Given the description of an element on the screen output the (x, y) to click on. 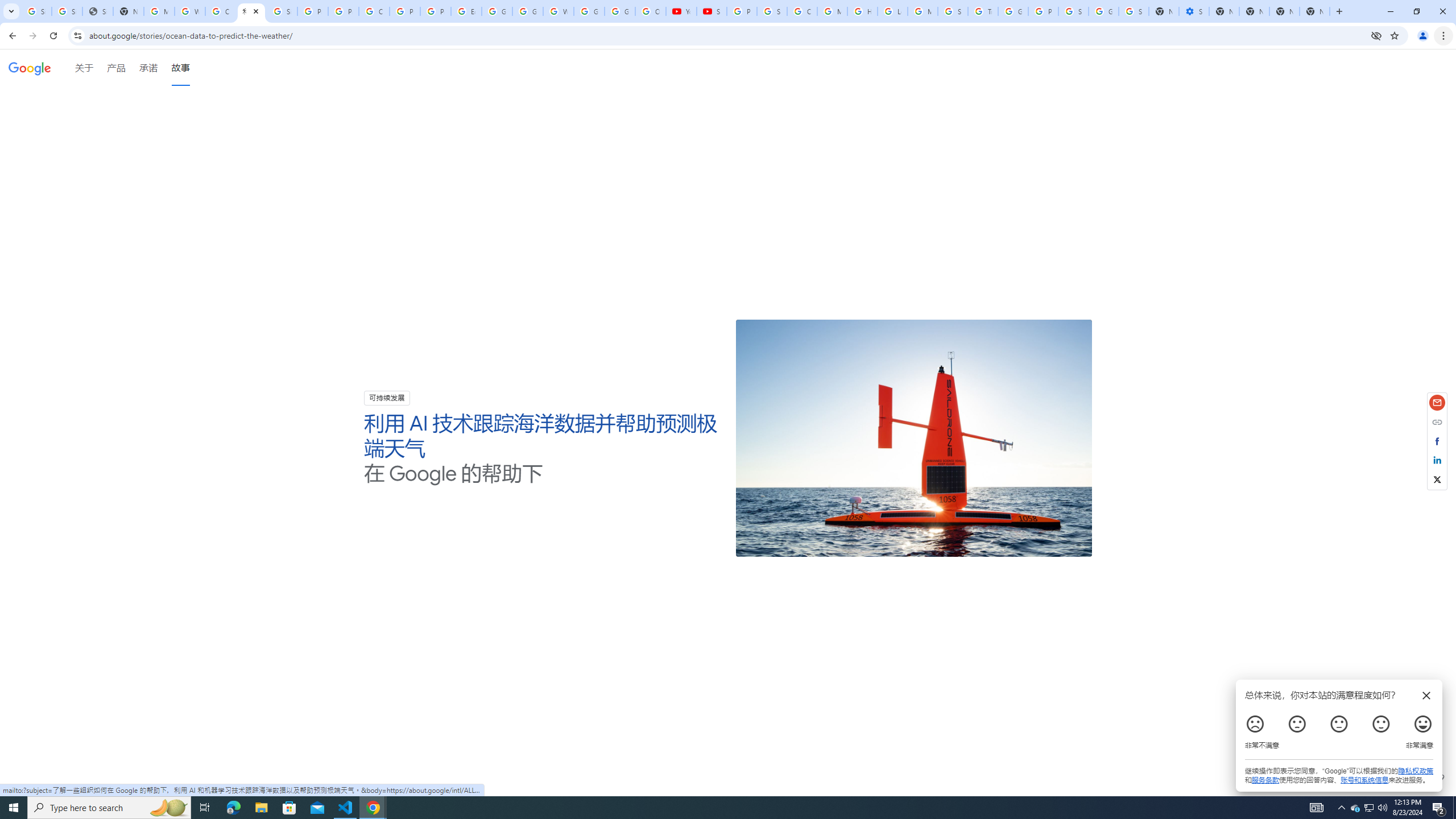
Sign in - Google Accounts (1133, 11)
New Tab (1314, 11)
